Given the description of an element on the screen output the (x, y) to click on. 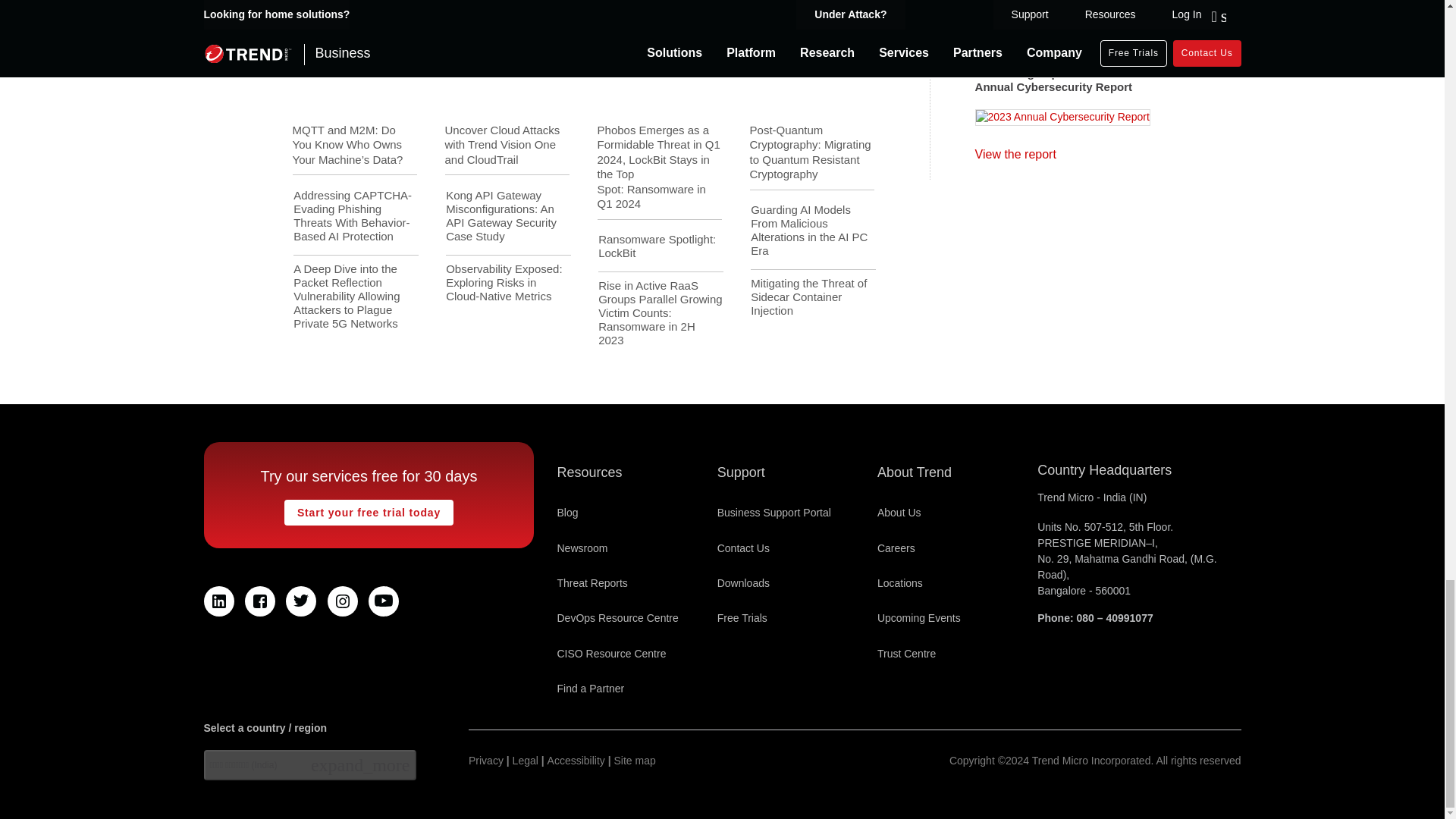
Site map (635, 760)
Legal (525, 760)
Accessibility (576, 760)
privacy (485, 760)
